Given the description of an element on the screen output the (x, y) to click on. 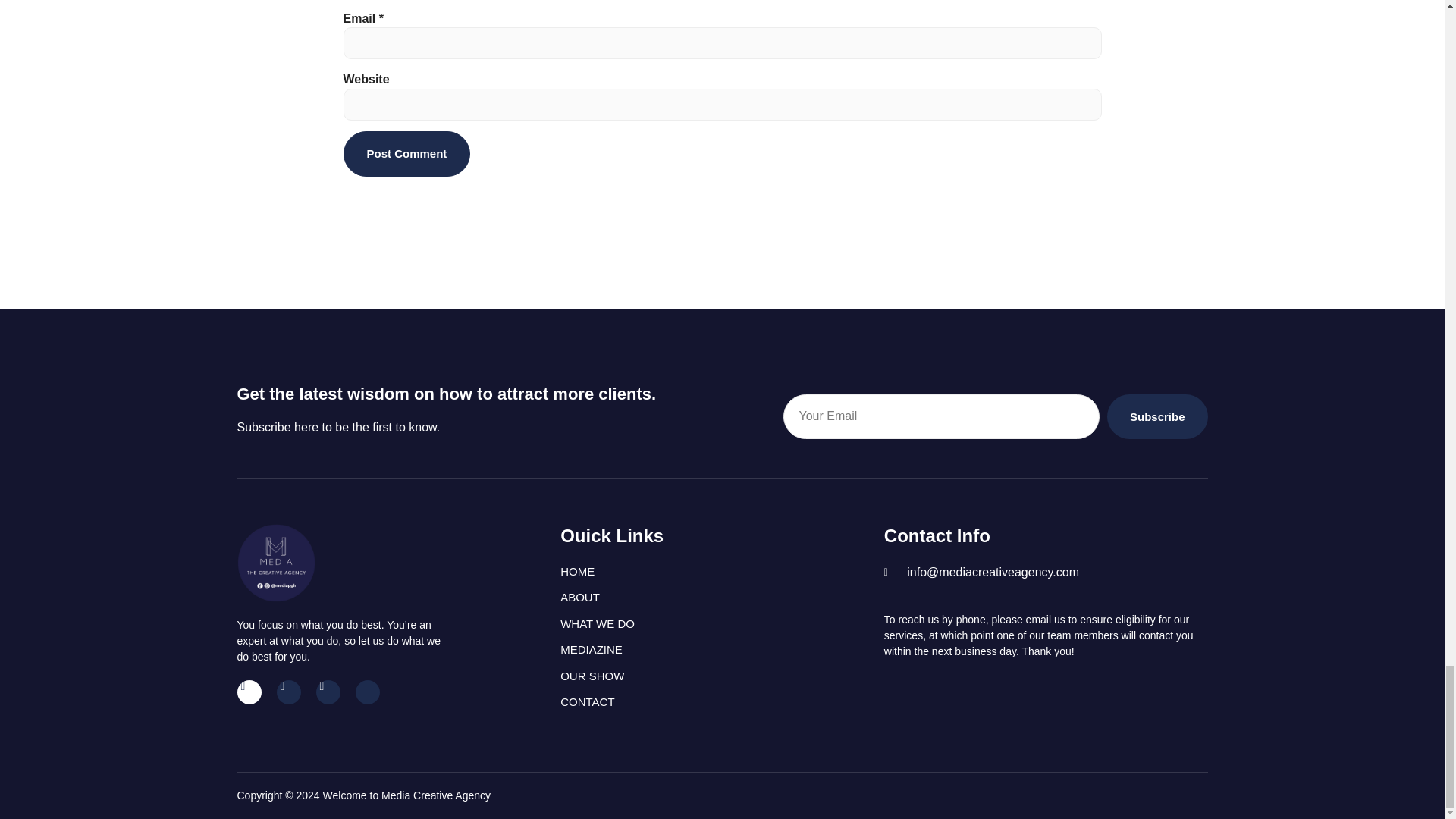
MEDIAZINE (721, 650)
CONTACT (721, 702)
ABOUT (721, 597)
OUR SHOW (721, 676)
Post Comment (406, 154)
Subscribe (1157, 415)
HOME (721, 571)
Post Comment (406, 154)
WHAT WE DO (721, 624)
